Given the description of an element on the screen output the (x, y) to click on. 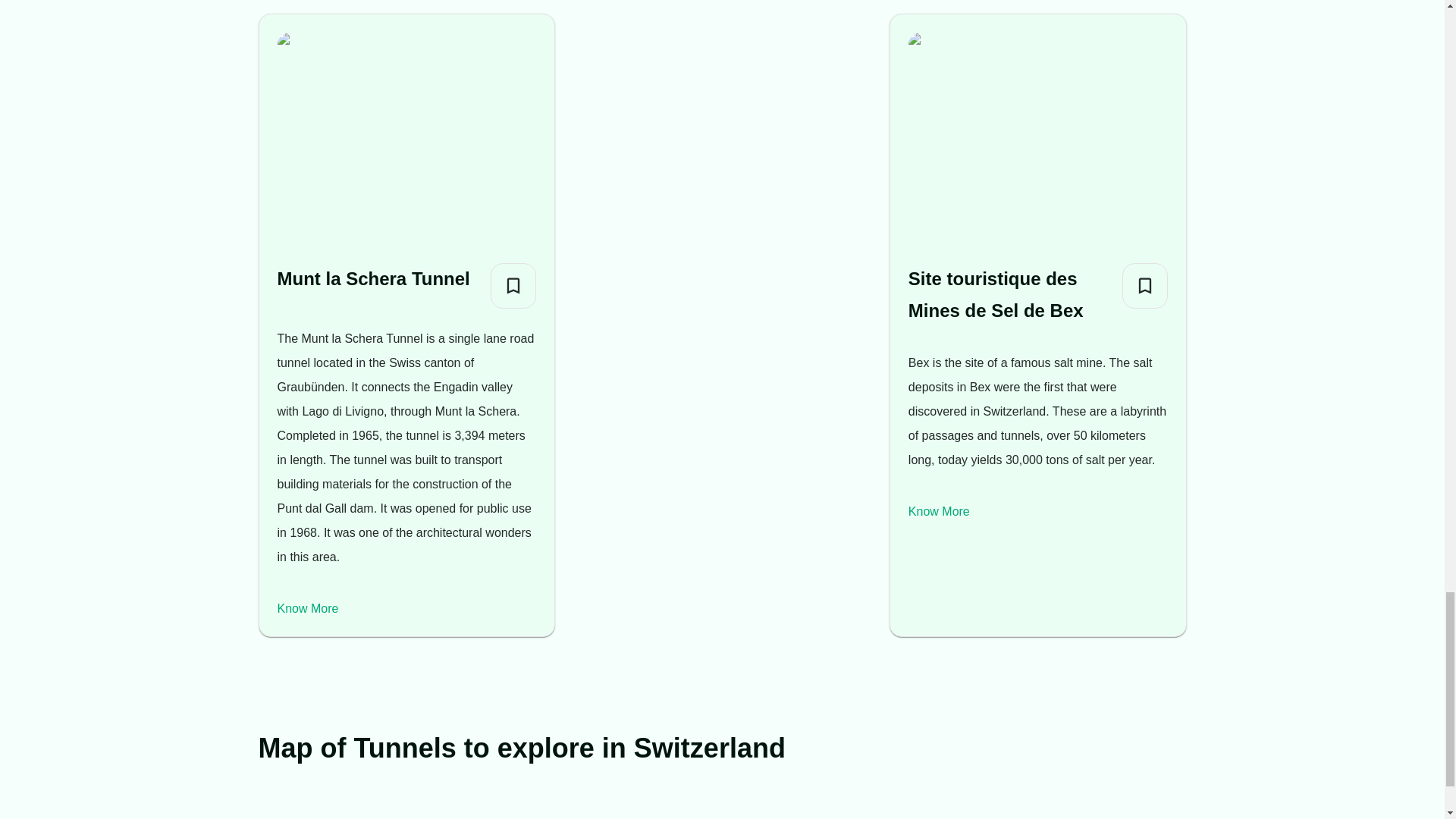
Add to Bucket List (1144, 285)
Add to Bucket List (512, 285)
Know More (938, 511)
Site touristique des Mines de Sel de Bex (1008, 294)
Munt la Schera Tunnel (374, 278)
Know More (308, 608)
